Given the description of an element on the screen output the (x, y) to click on. 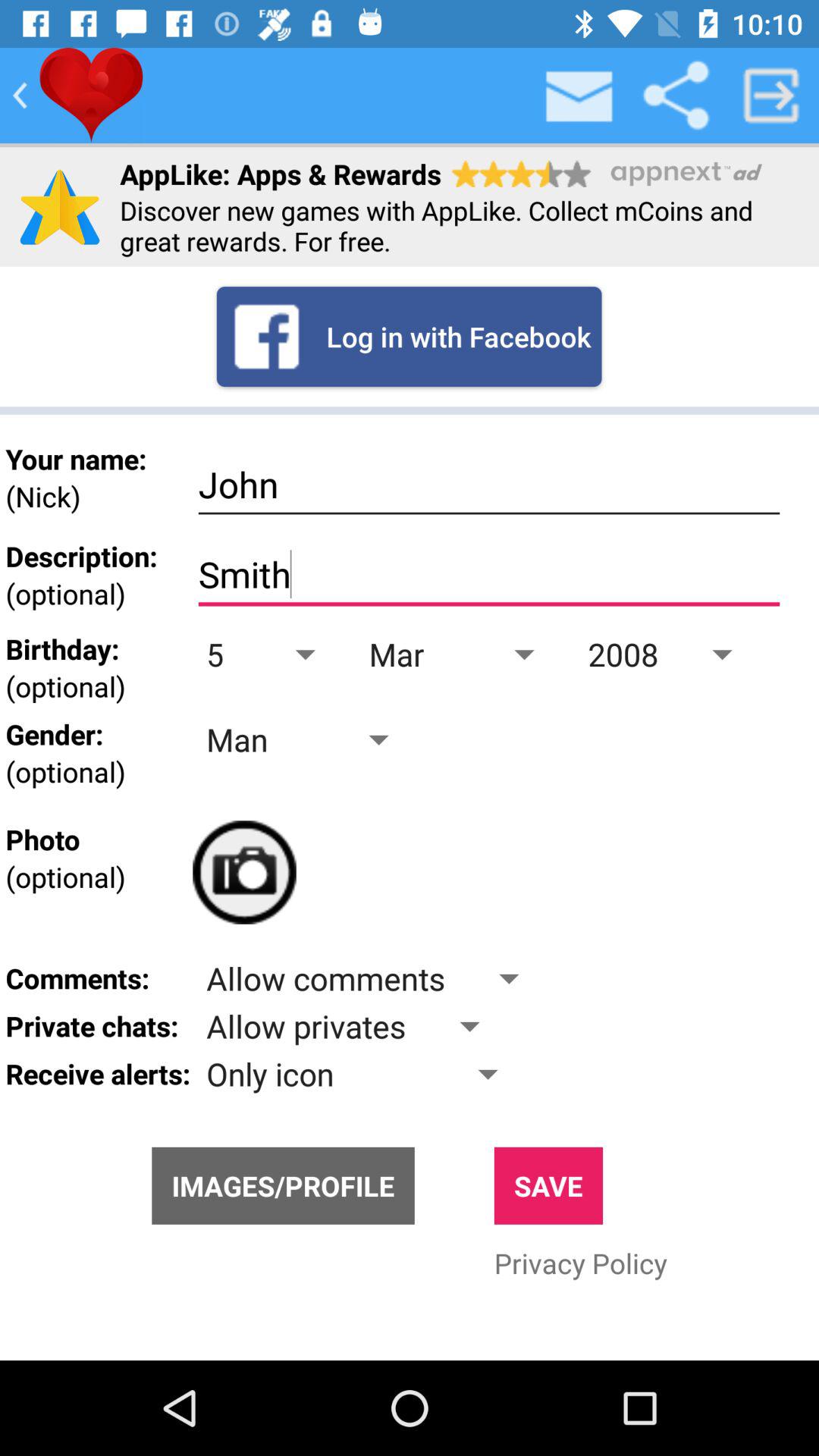
share as email (579, 95)
